Given the description of an element on the screen output the (x, y) to click on. 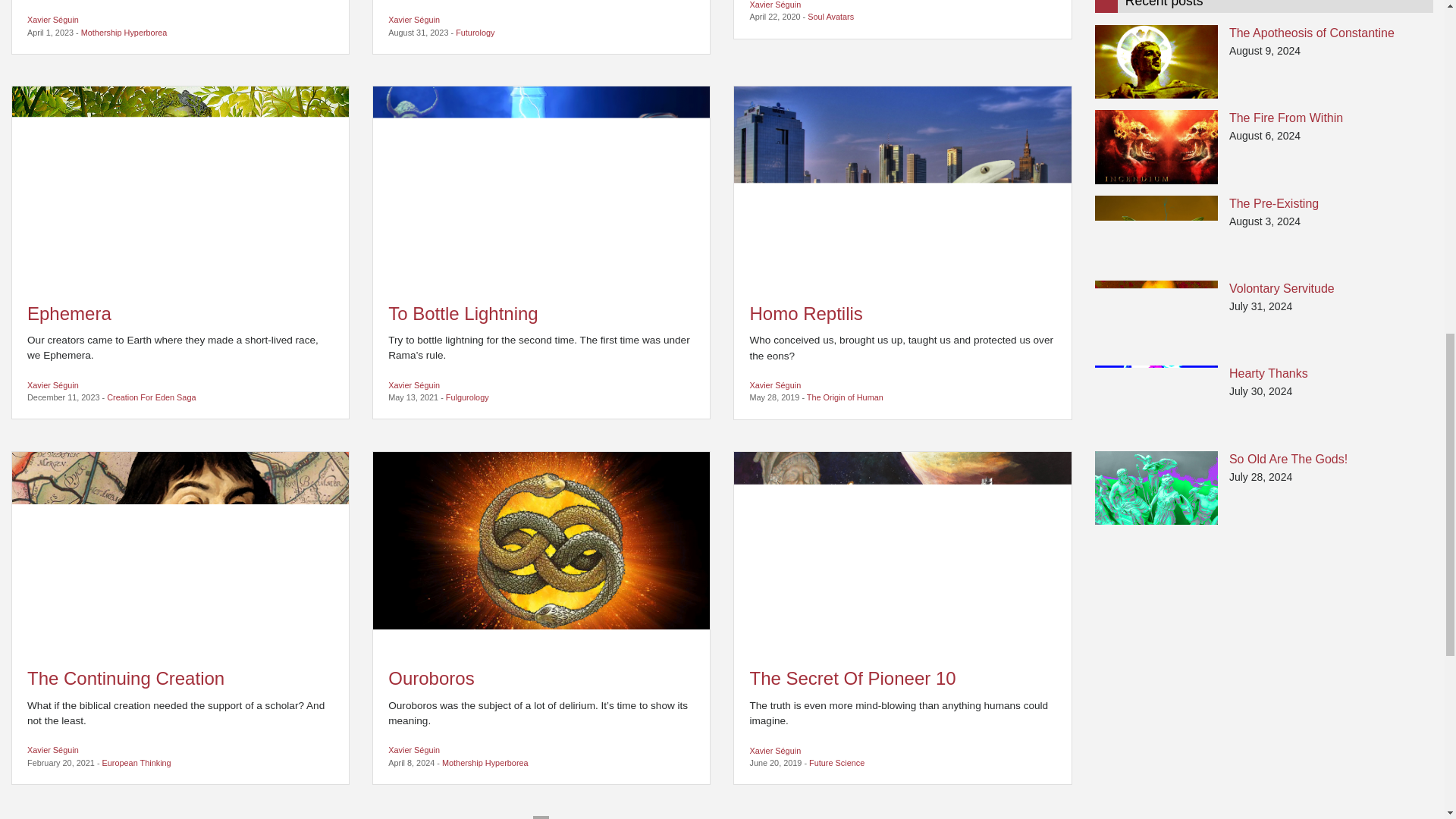
Ephemera (180, 186)
The Continuing Creation (180, 551)
The Secret Of Pioneer 10 (901, 551)
To Bottle Lightning (541, 186)
The Apotheosis of Constantine (1155, 60)
Homo Reptilis (901, 186)
Ouroboros (541, 551)
